Given the description of an element on the screen output the (x, y) to click on. 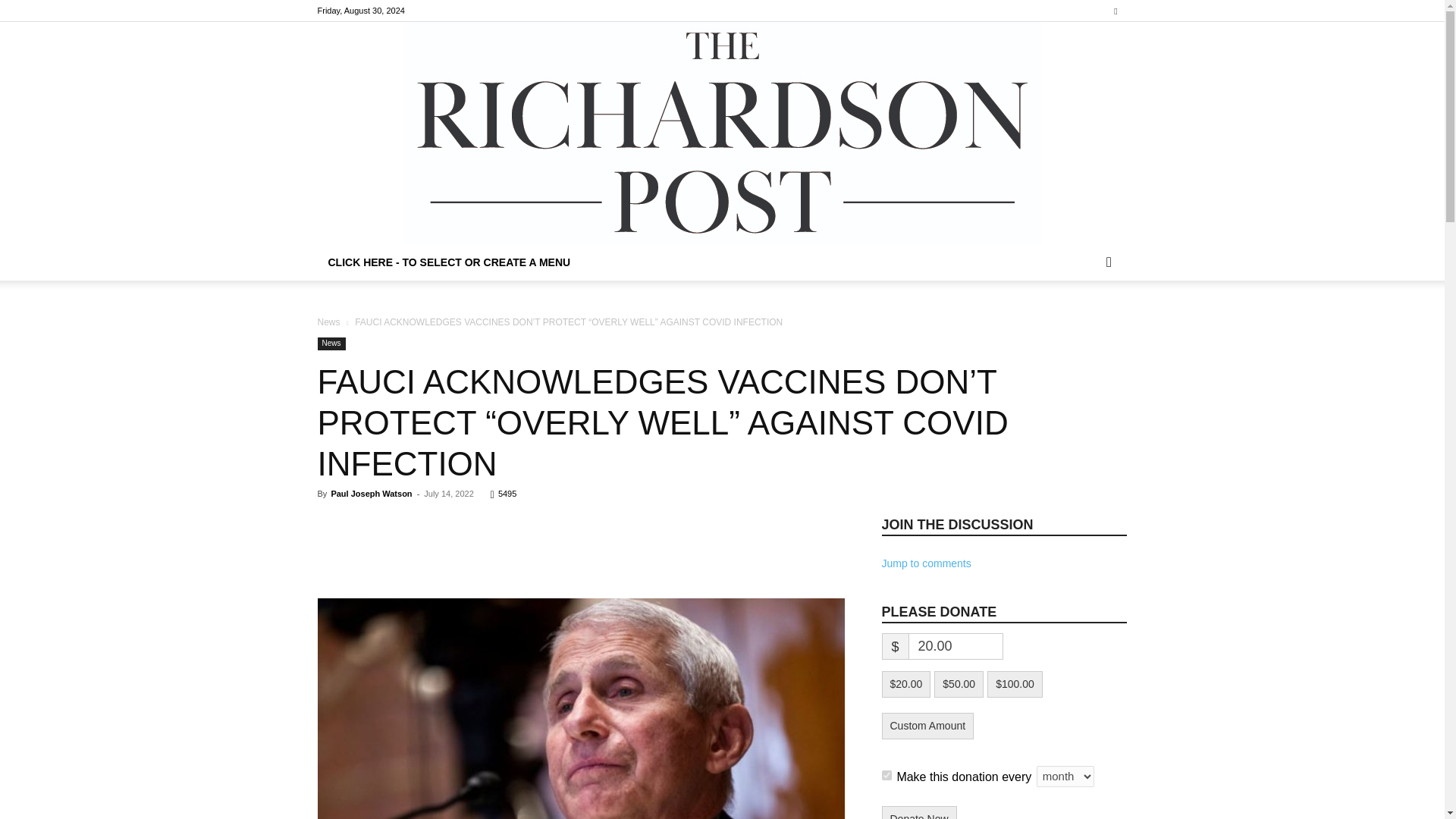
CLICK HERE - TO SELECT OR CREATE A MENU (448, 262)
Paul Joseph Watson (371, 492)
Facebook (1114, 10)
News (328, 321)
20.00 (955, 646)
View all posts in News (328, 321)
topFacebookLike (430, 521)
Search (1085, 322)
